Given the description of an element on the screen output the (x, y) to click on. 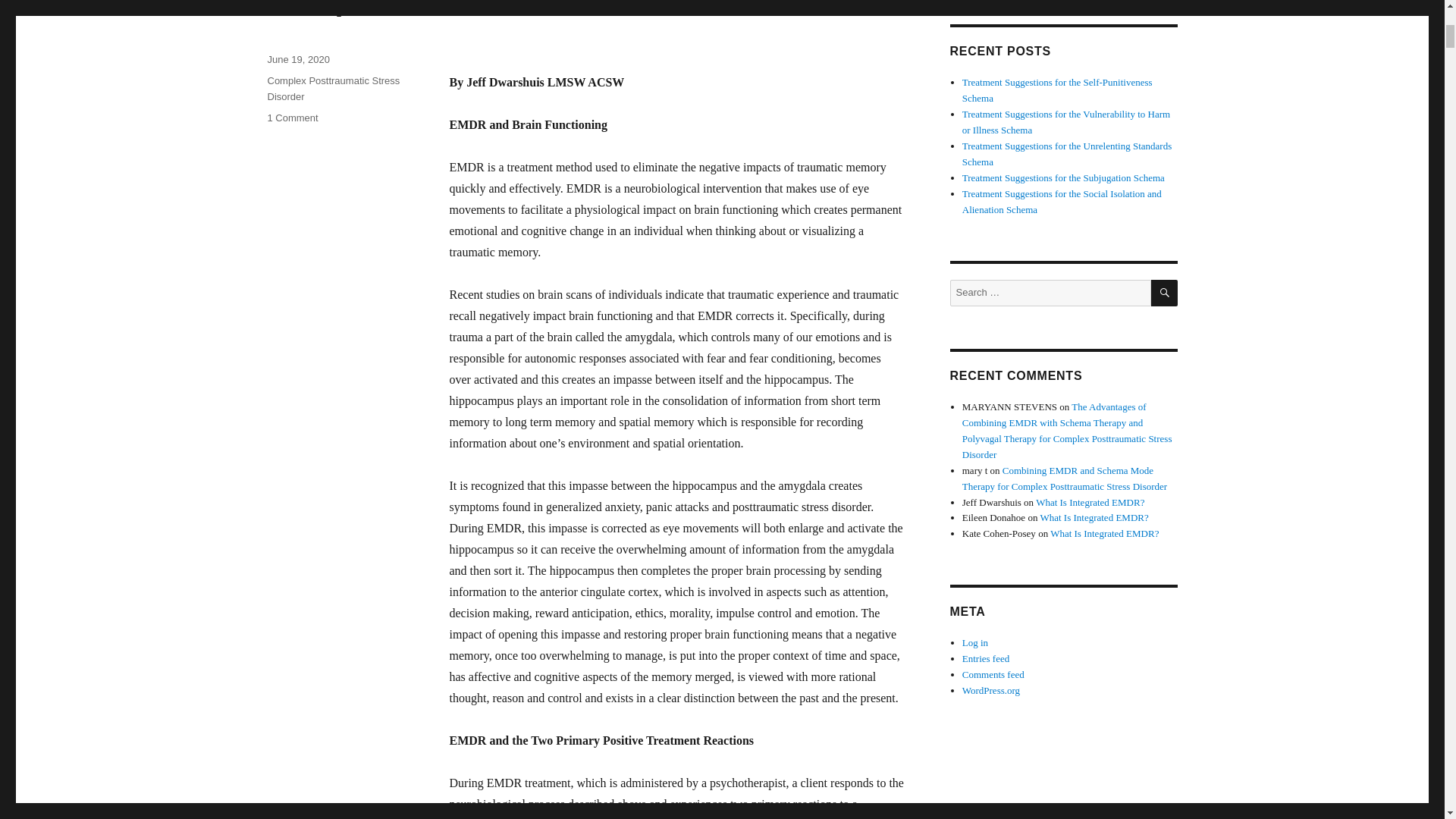
June 19, 2020 (297, 59)
Complex Posttraumatic Stress Disorder (332, 88)
